Given the description of an element on the screen output the (x, y) to click on. 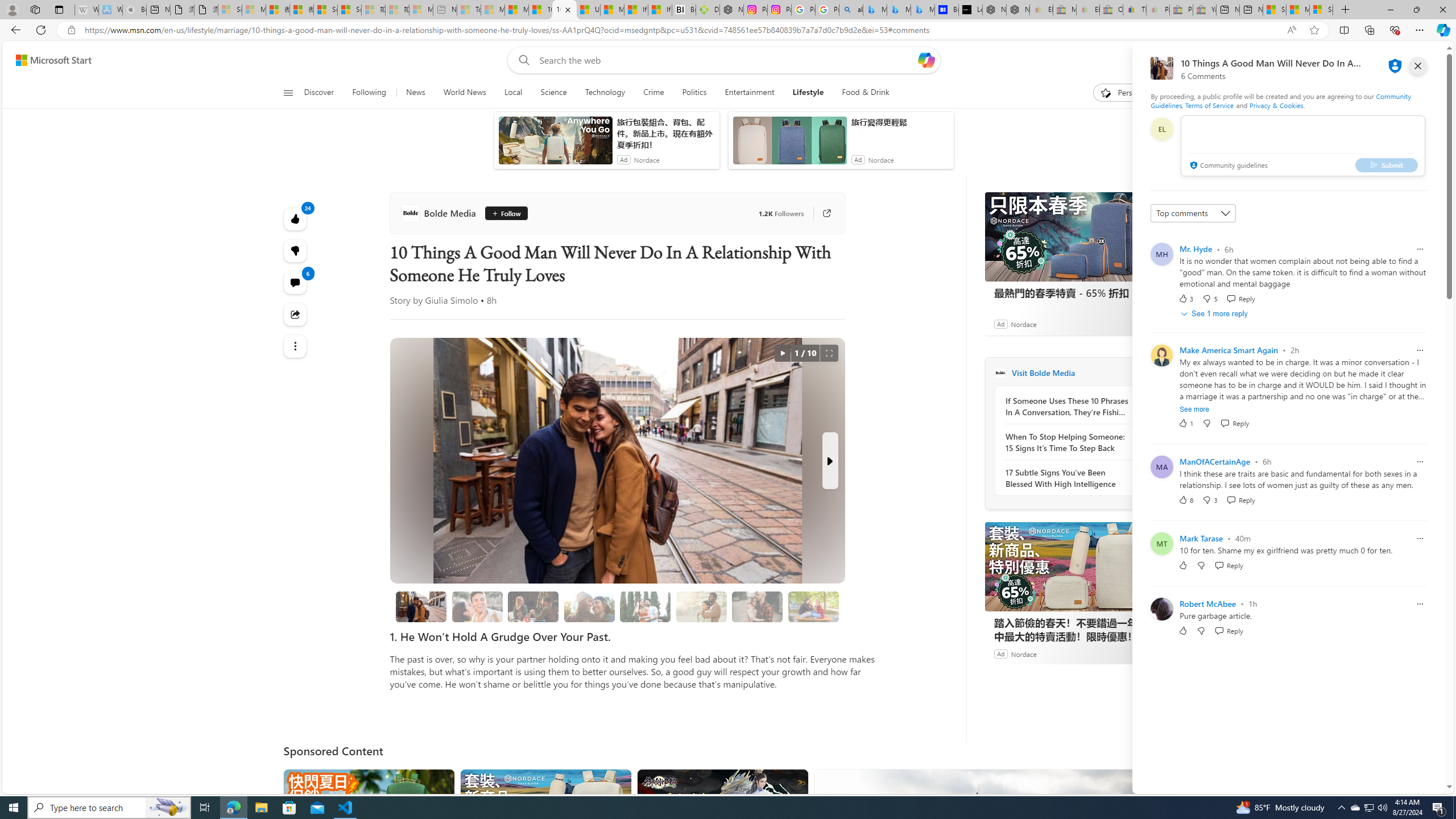
See 1 more reply (1215, 313)
Following (370, 92)
Open Copilot (925, 59)
Submit (1386, 164)
Reply Reply Comment (1228, 630)
To get missing image descriptions, open the context menu. (1105, 92)
anim-content (789, 144)
